Given the description of an element on the screen output the (x, y) to click on. 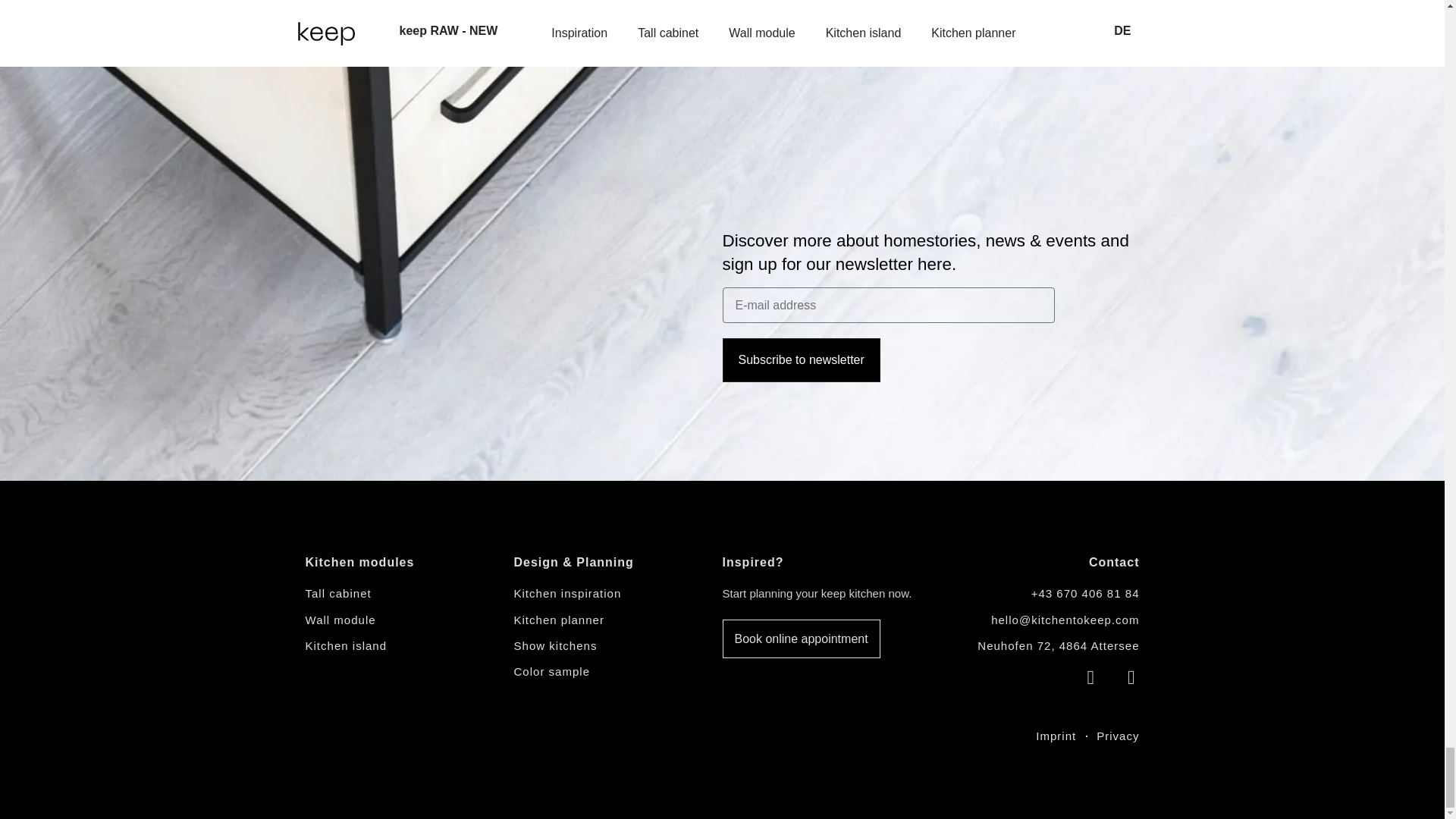
Freestanding modular kitchen island (408, 645)
Configure your keep modular kitchen (617, 619)
keep kitchen inspiration (617, 593)
keep kitchen inspiration (617, 645)
to the keep Pinterest page (1125, 677)
Modular kitchen tall cabinet with appliances (408, 593)
keep modular kitchens - Home page (513, 736)
to keep Instagram page (1084, 677)
Material and color samples for your kitchen front (617, 671)
Modular kitchen base cabinet (408, 619)
